Given the description of an element on the screen output the (x, y) to click on. 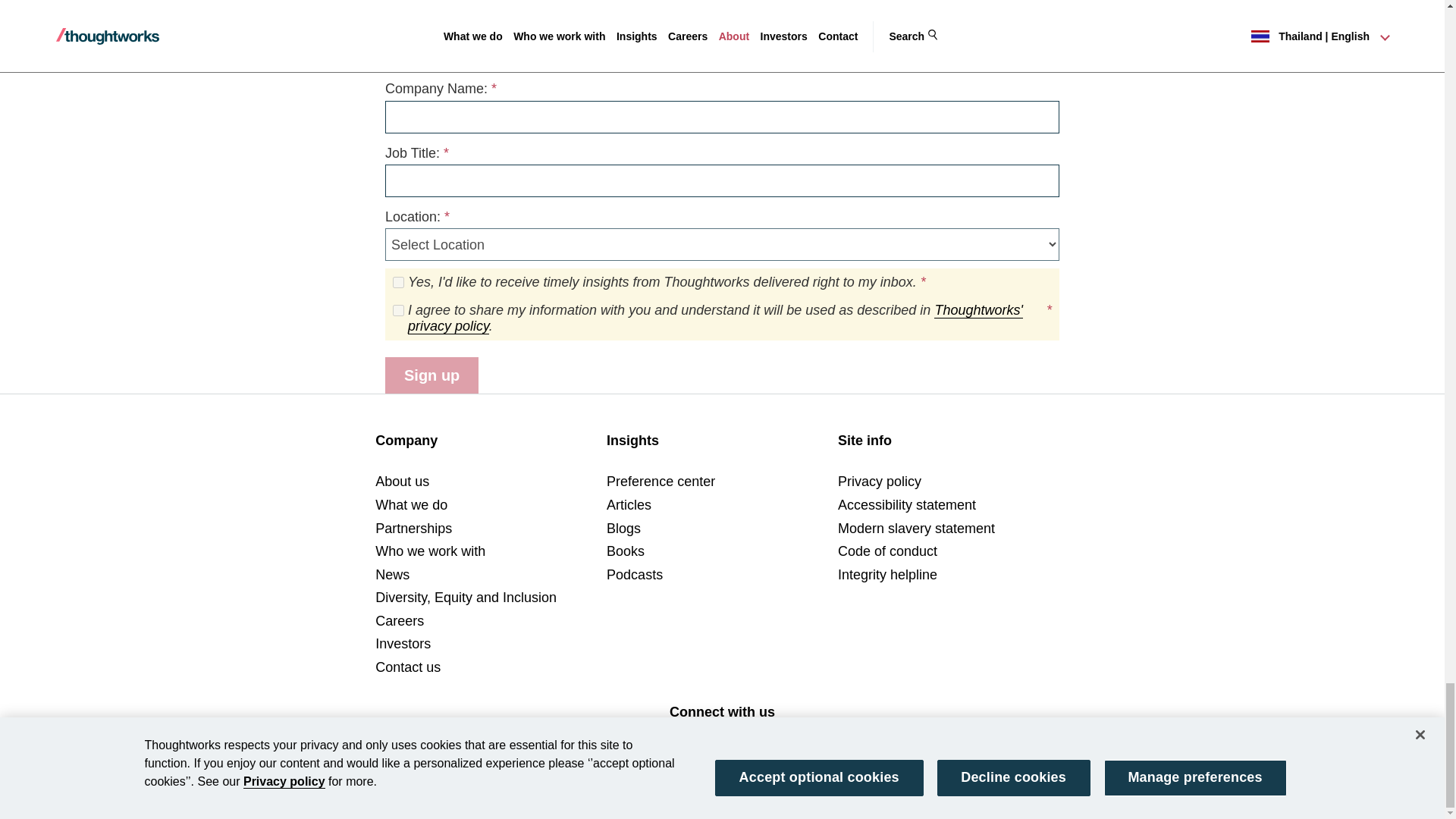
yes (398, 310)
yes (398, 282)
